Given the description of an element on the screen output the (x, y) to click on. 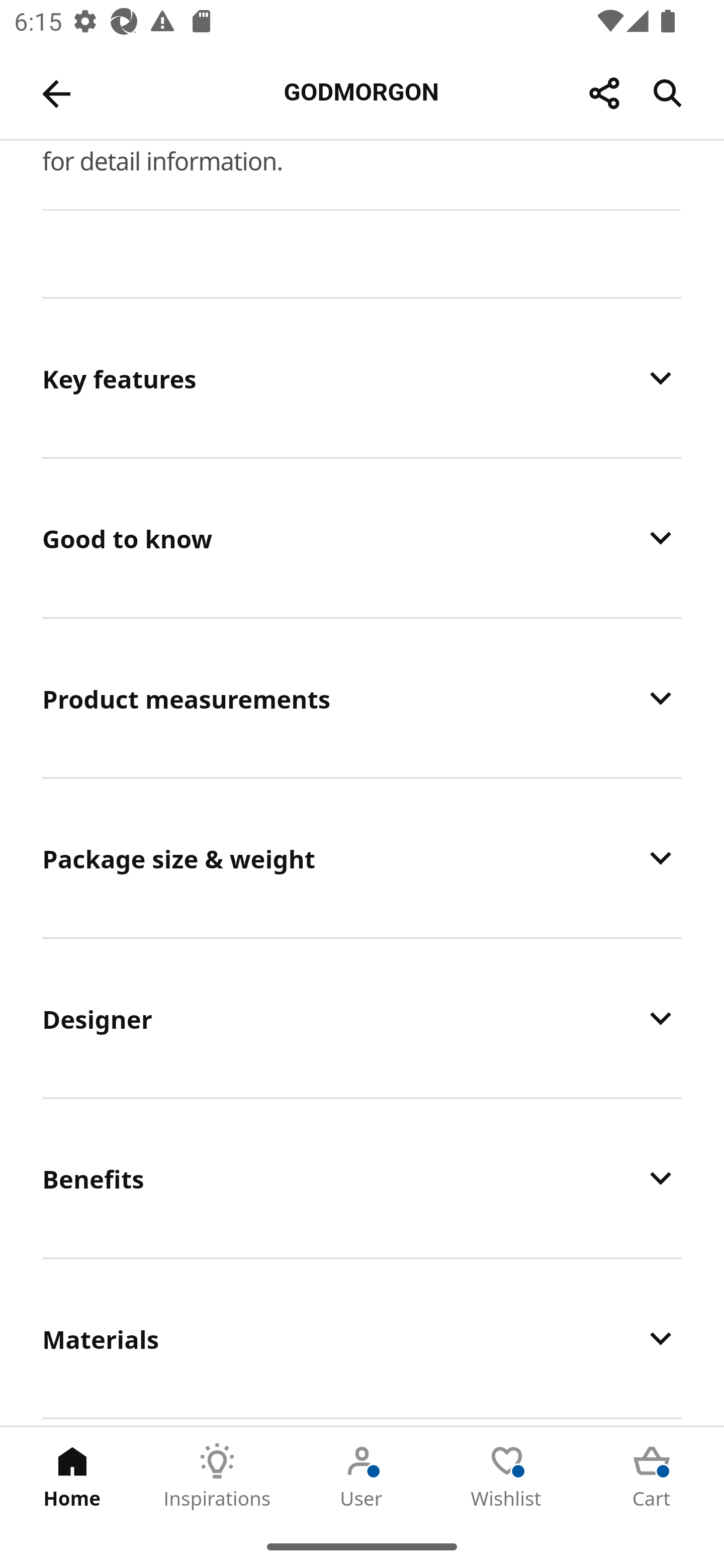
Key features (361, 377)
Good to know (361, 537)
Product measurements (361, 698)
Package size & weight (361, 857)
Designer (361, 1018)
Benefits (361, 1177)
Materials (361, 1337)
Home
Tab 1 of 5 (72, 1476)
Inspirations
Tab 2 of 5 (216, 1476)
User
Tab 3 of 5 (361, 1476)
Wishlist
Tab 4 of 5 (506, 1476)
Cart
Tab 5 of 5 (651, 1476)
